Given the description of an element on the screen output the (x, y) to click on. 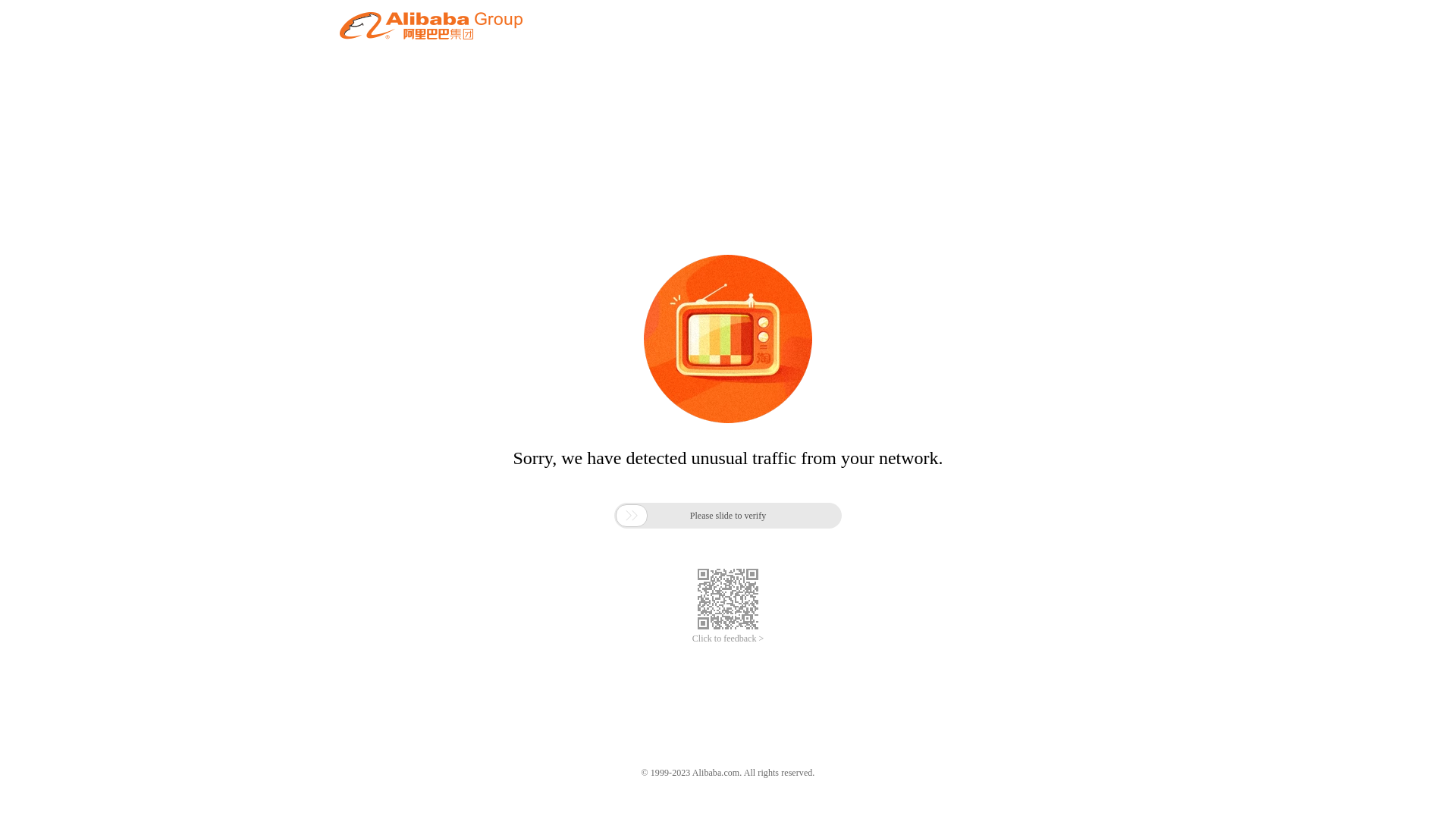
Click to feedback > Element type: text (727, 638)
